Given the description of an element on the screen output the (x, y) to click on. 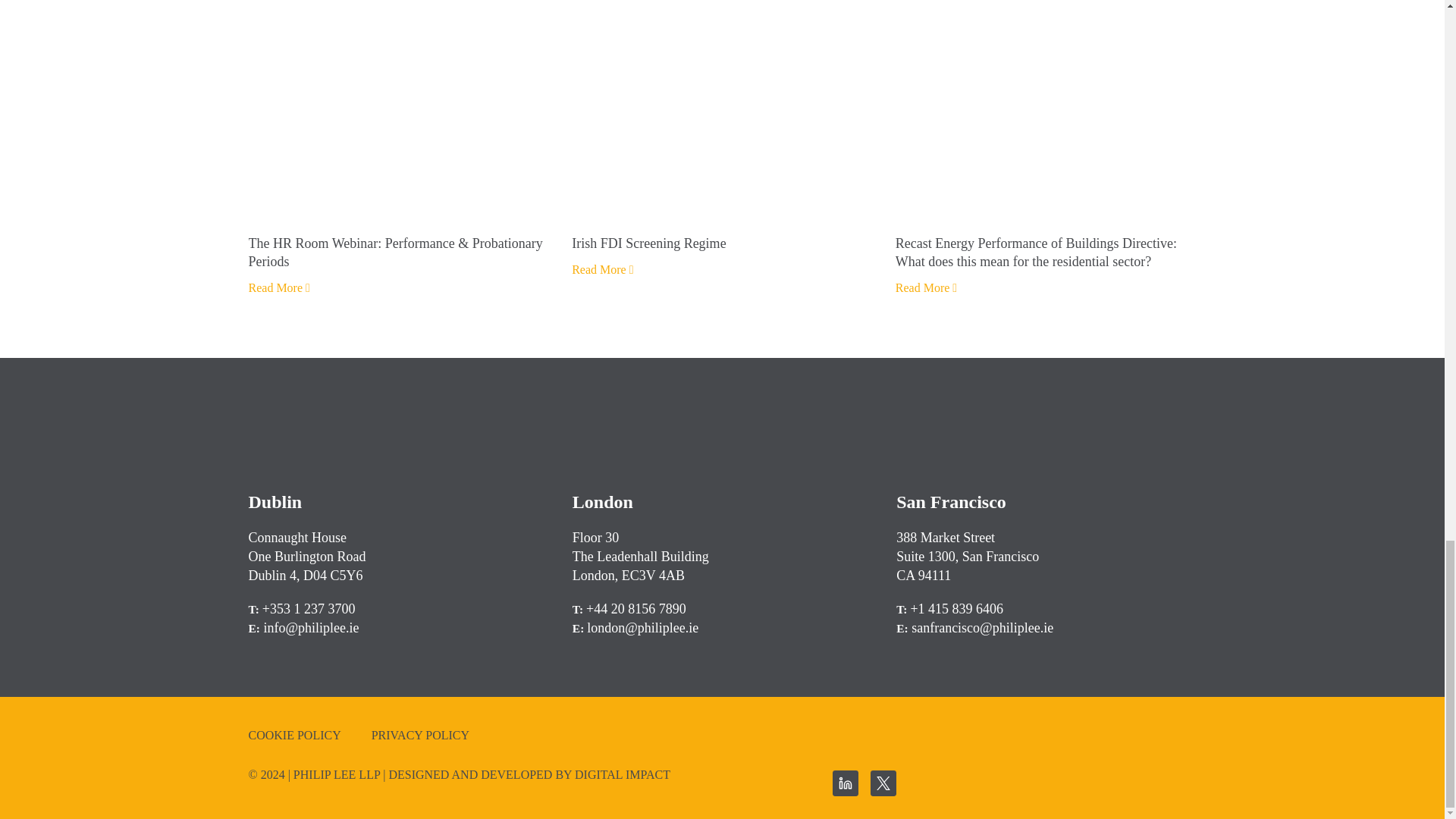
COOKIE POLICY (294, 735)
PRIVACY POLICY (419, 735)
Irish FDI Screening Regime (722, 243)
353 1 237 3700 (312, 608)
